Given the description of an element on the screen output the (x, y) to click on. 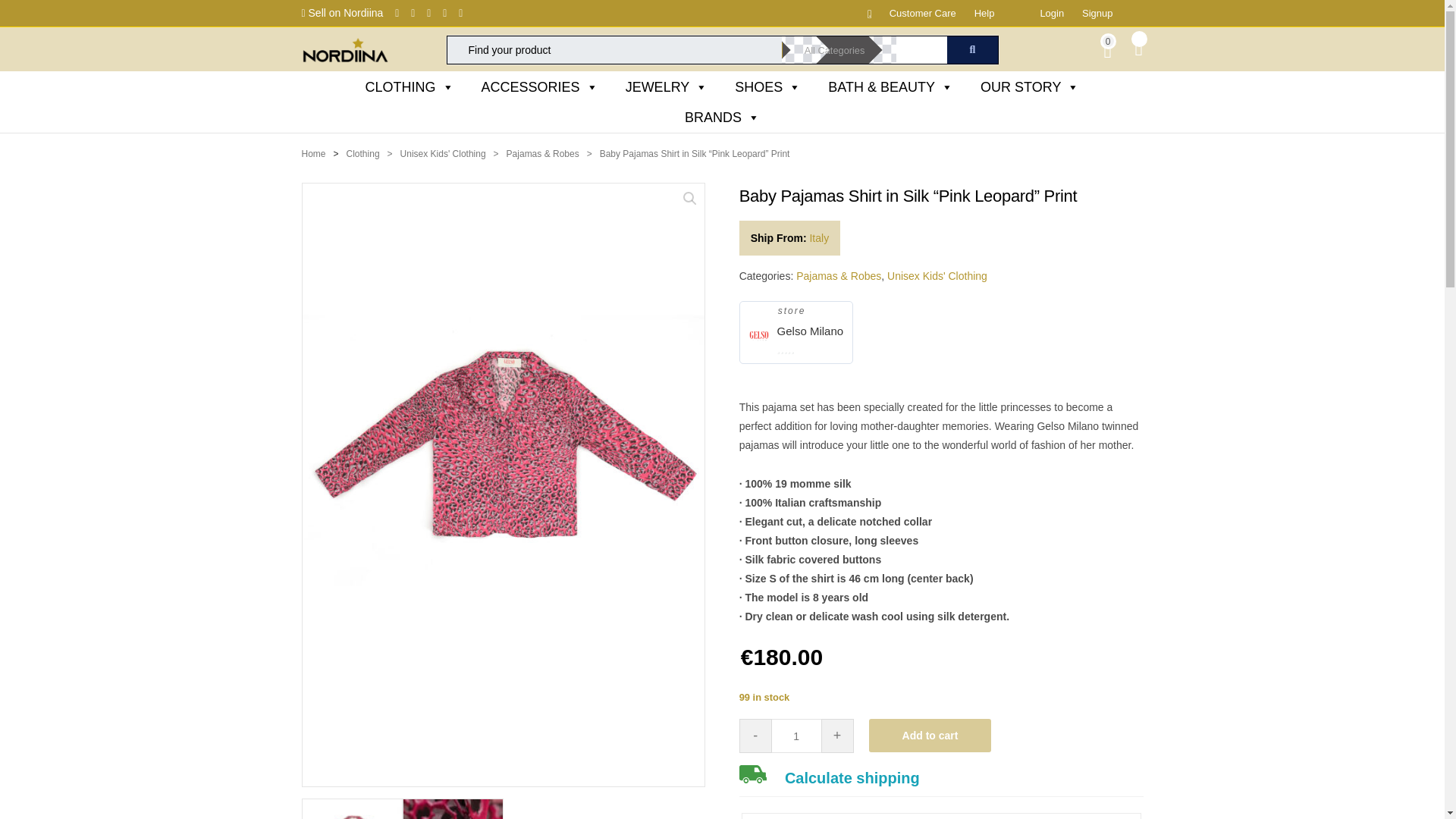
Sell on Nordiina (342, 12)
. (861, 12)
- (755, 735)
Login (1051, 12)
CLOTHING (409, 87)
Help (984, 12)
1 (796, 735)
Signup (1096, 12)
Customer Care (922, 12)
Qty (796, 735)
No reviews yet! (809, 348)
